Given the description of an element on the screen output the (x, y) to click on. 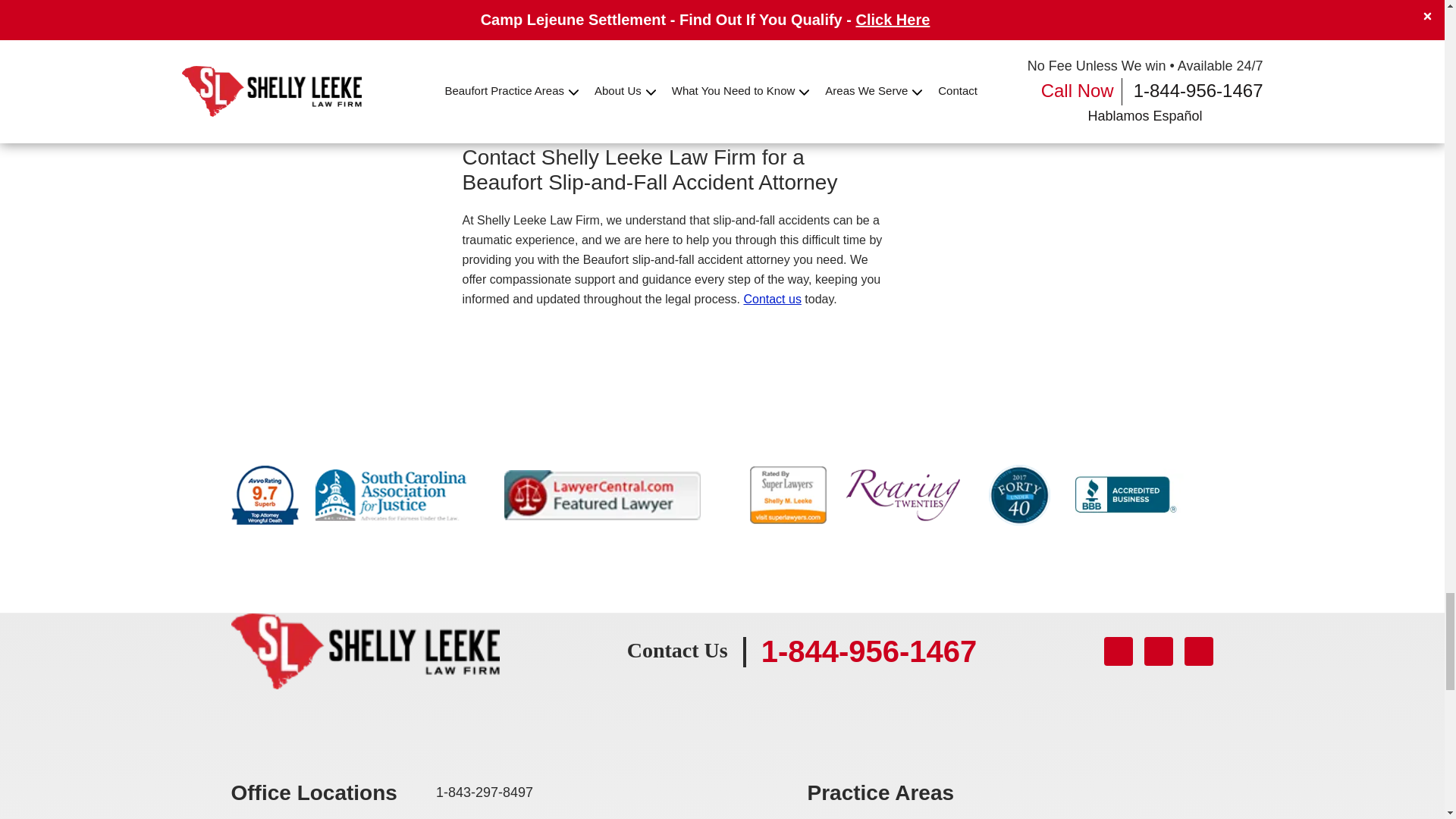
Fortyunder40 Badge (1018, 495)
Shelly Leeke Law Firm, LLC (364, 623)
Roaring Twenties Badge (902, 495)
sc association Badge (390, 495)
Shelly Leeke Law Firm, LLC (364, 651)
BBB Accredited Leeke Law (1124, 495)
Super Lawyers Badge (788, 495)
AVVO Badge (264, 495)
Laywercentral Badge (601, 495)
